Given the description of an element on the screen output the (x, y) to click on. 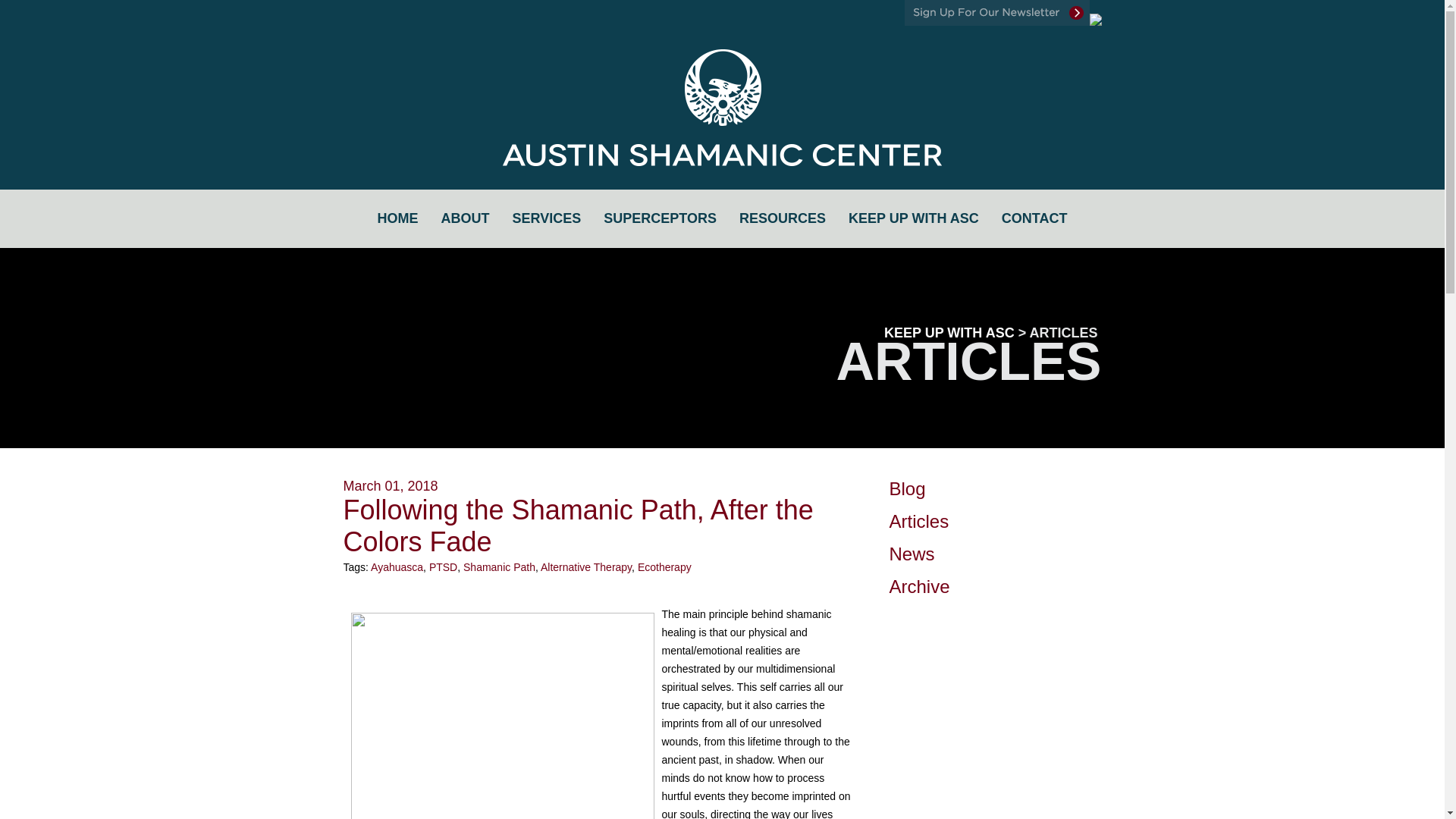
Blog (906, 488)
KEEP UP WITH ASC (948, 332)
Articles (918, 521)
SERVICES (546, 218)
ABOUT (465, 218)
CONTACT (1034, 218)
Ayahuasca (397, 567)
KEEP UP WITH ASC (913, 218)
RESOURCES (782, 218)
Ecotherapy (664, 567)
